Given the description of an element on the screen output the (x, y) to click on. 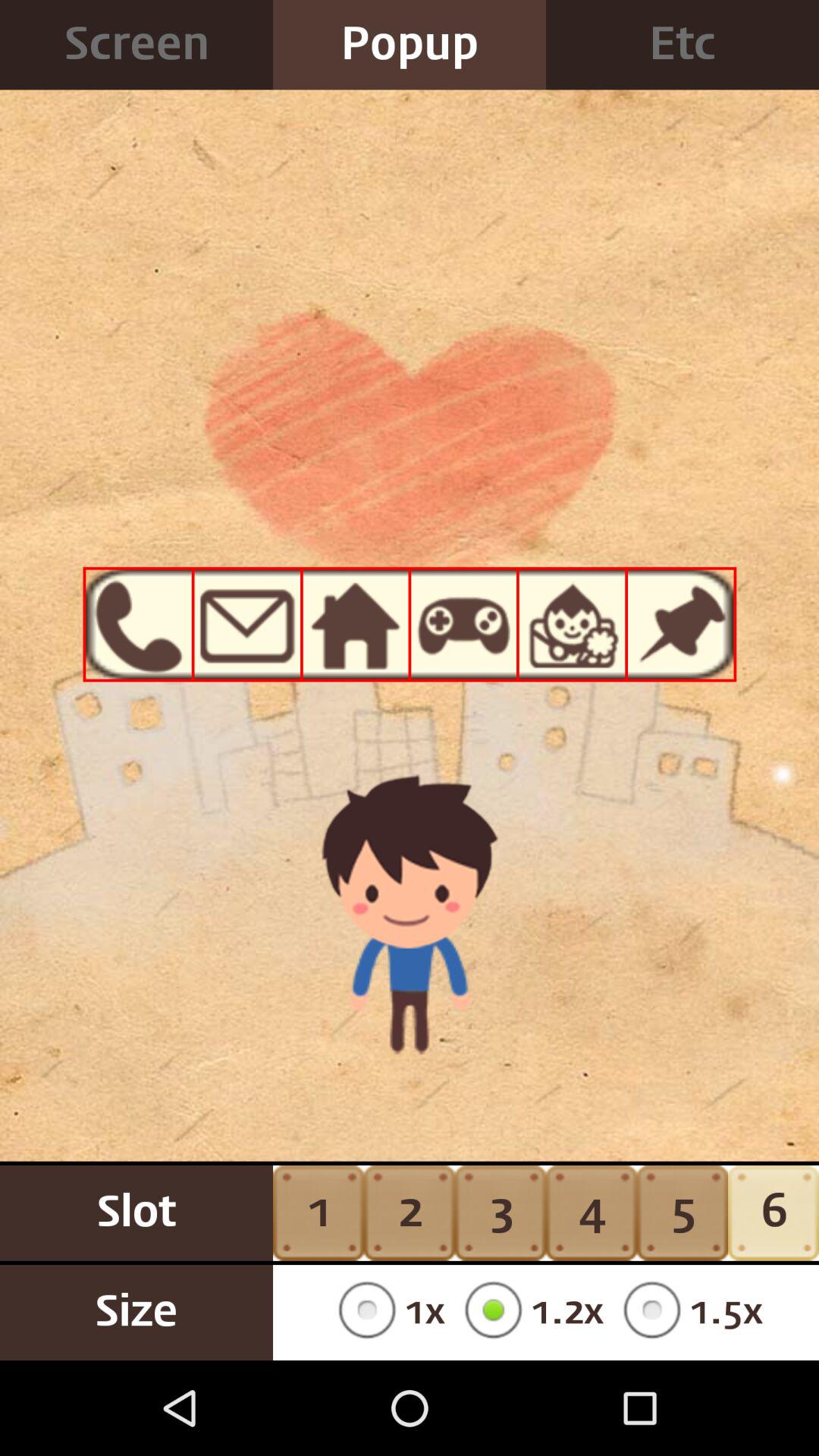
launch 6 button (773, 1212)
